Given the description of an element on the screen output the (x, y) to click on. 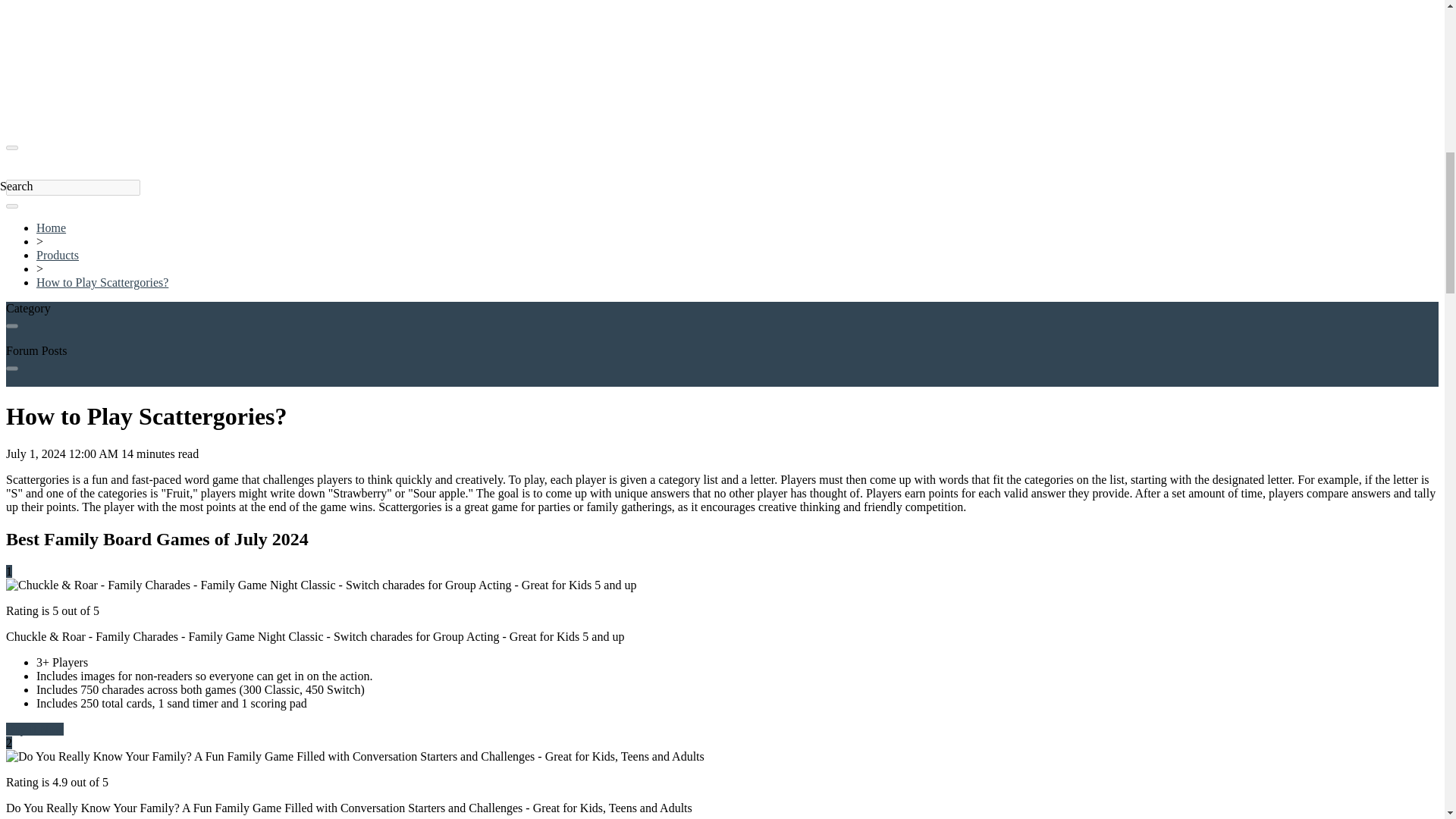
Home (50, 227)
Buy It Now (34, 728)
Products (57, 254)
How to Play Scattergories? (102, 282)
